Given the description of an element on the screen output the (x, y) to click on. 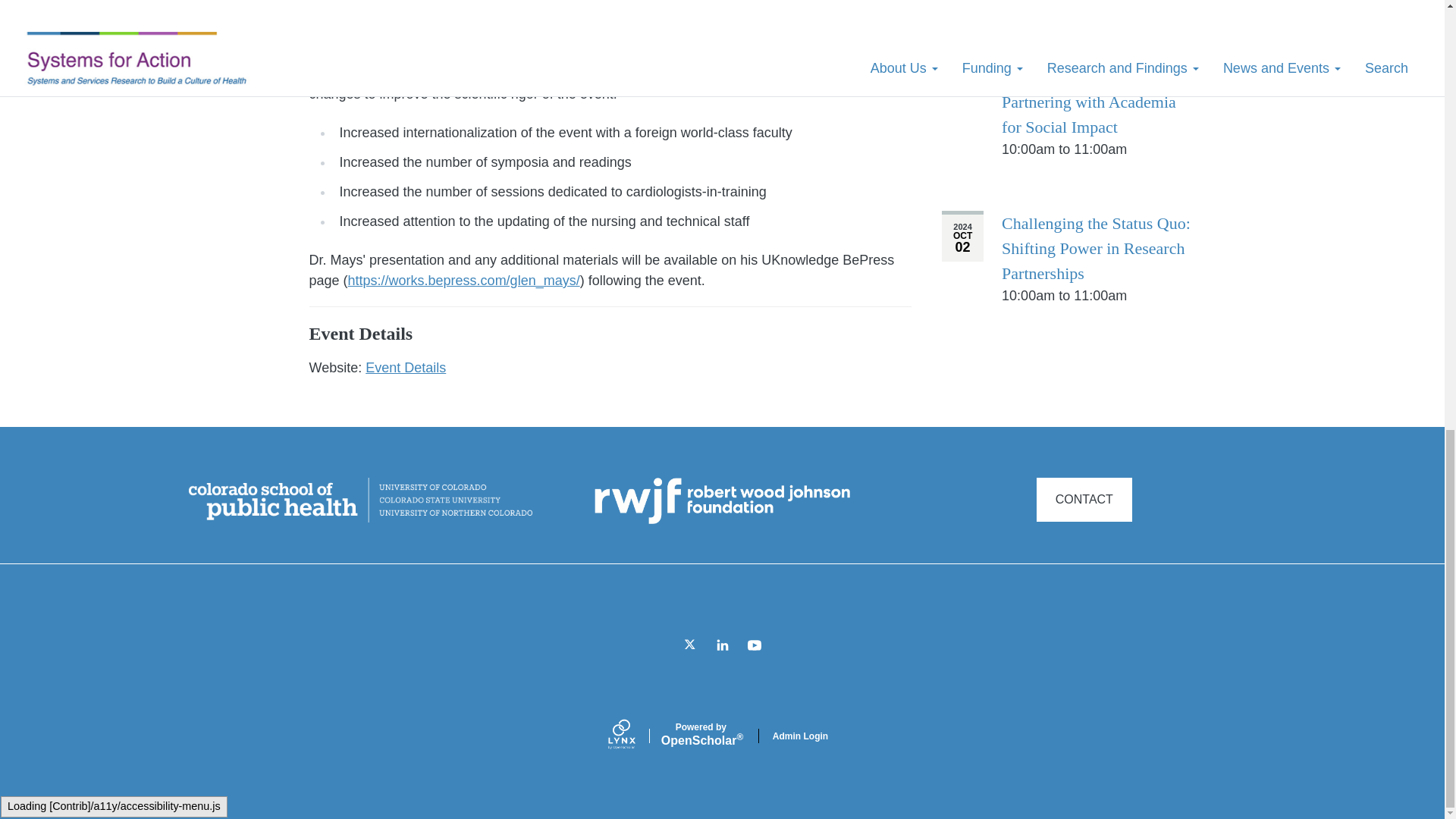
YouTube (754, 644)
LinkedIn (722, 644)
Twitter (690, 644)
